Given the description of an element on the screen output the (x, y) to click on. 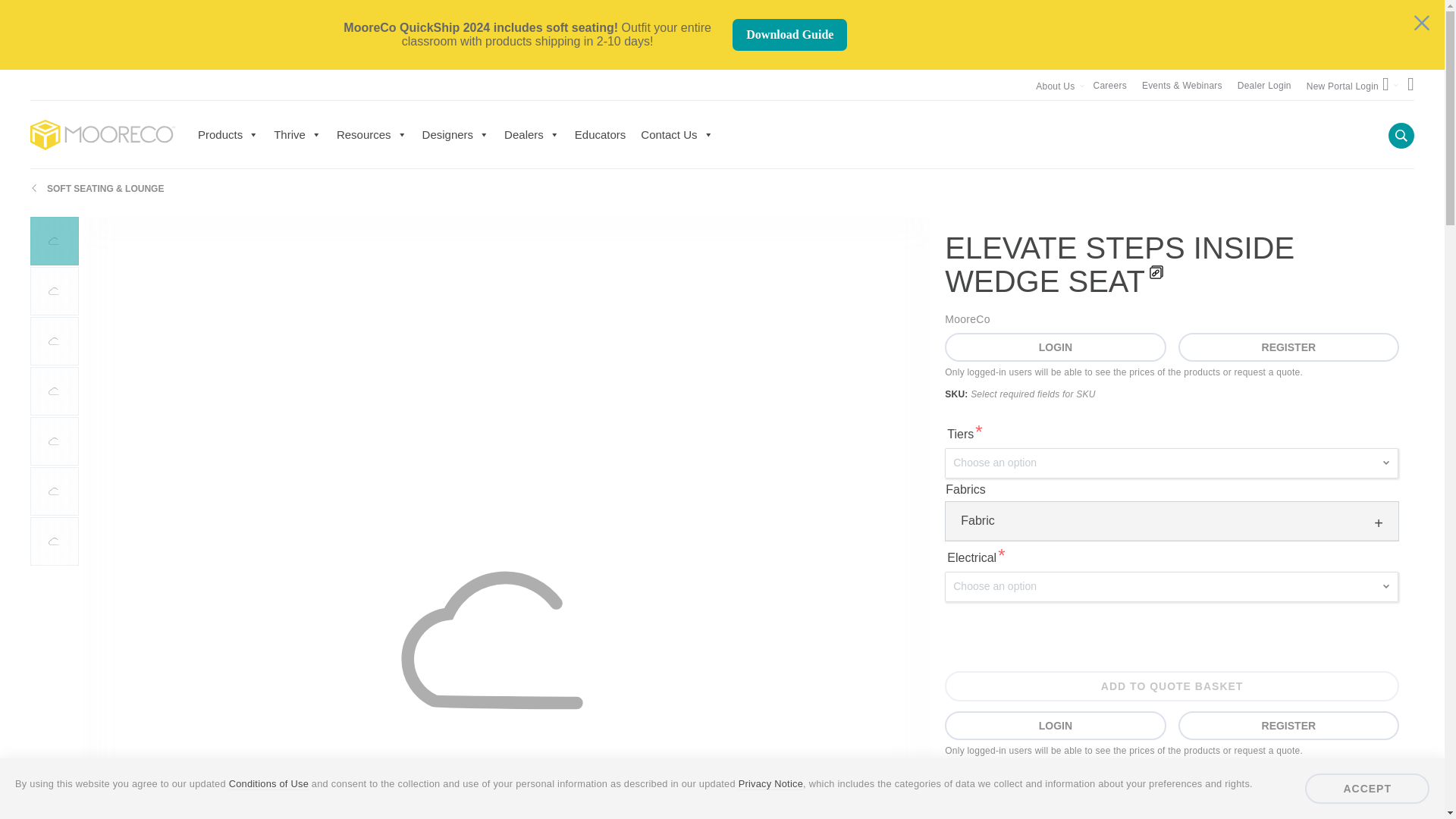
Products (228, 134)
About Us (1056, 86)
Dealer Login (1264, 85)
Careers (1109, 85)
New Portal Login (1348, 85)
